Given the description of an element on the screen output the (x, y) to click on. 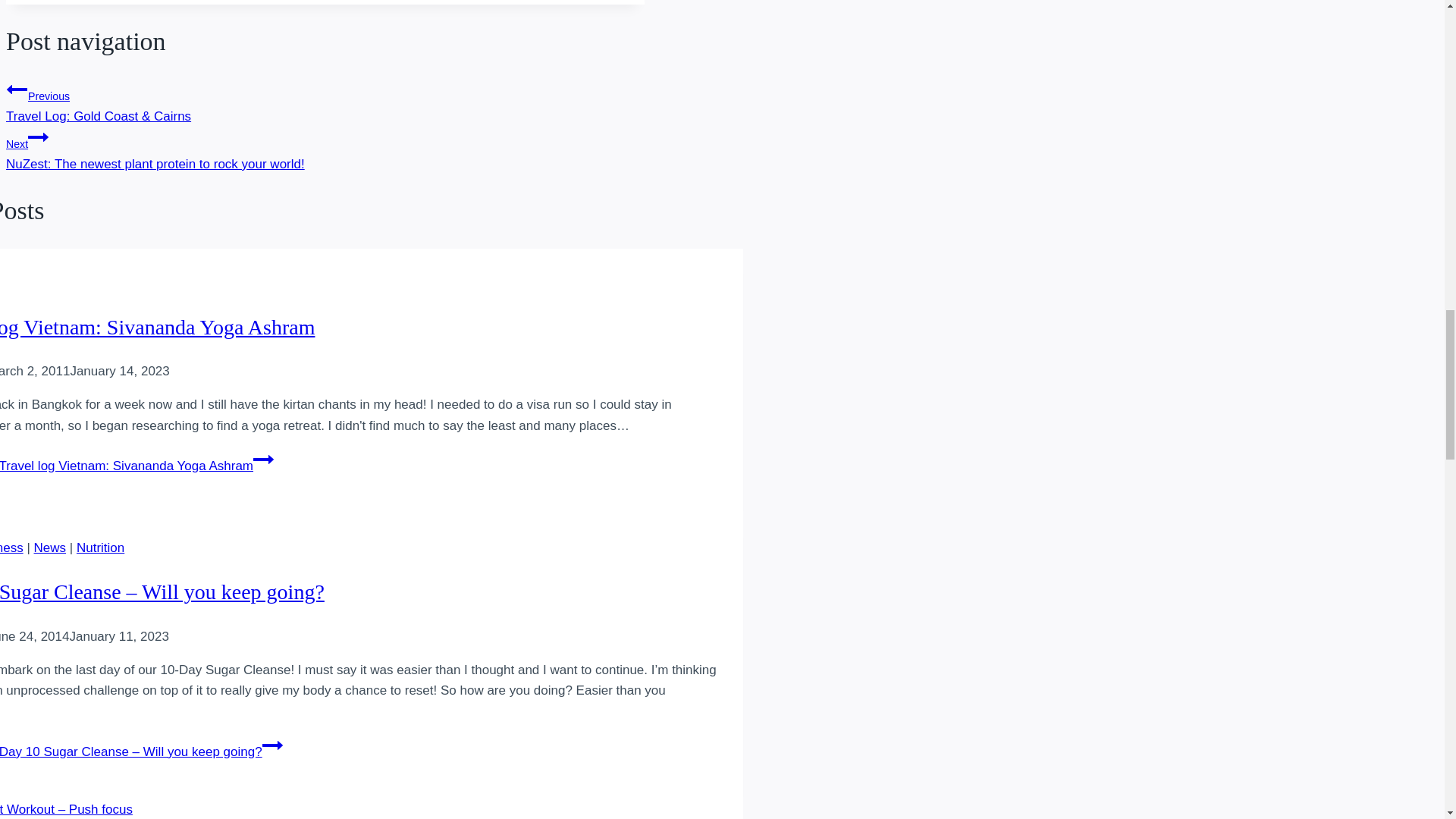
Continue (272, 744)
Previous (16, 88)
Read More Travel log Vietnam: Sivananda Yoga AshramContinue (136, 465)
Continue (37, 137)
Nutrition (100, 547)
Travel log Vietnam: Sivananda Yoga Ashram (157, 327)
Continue (263, 459)
News (49, 547)
Fitness (11, 547)
